Given the description of an element on the screen output the (x, y) to click on. 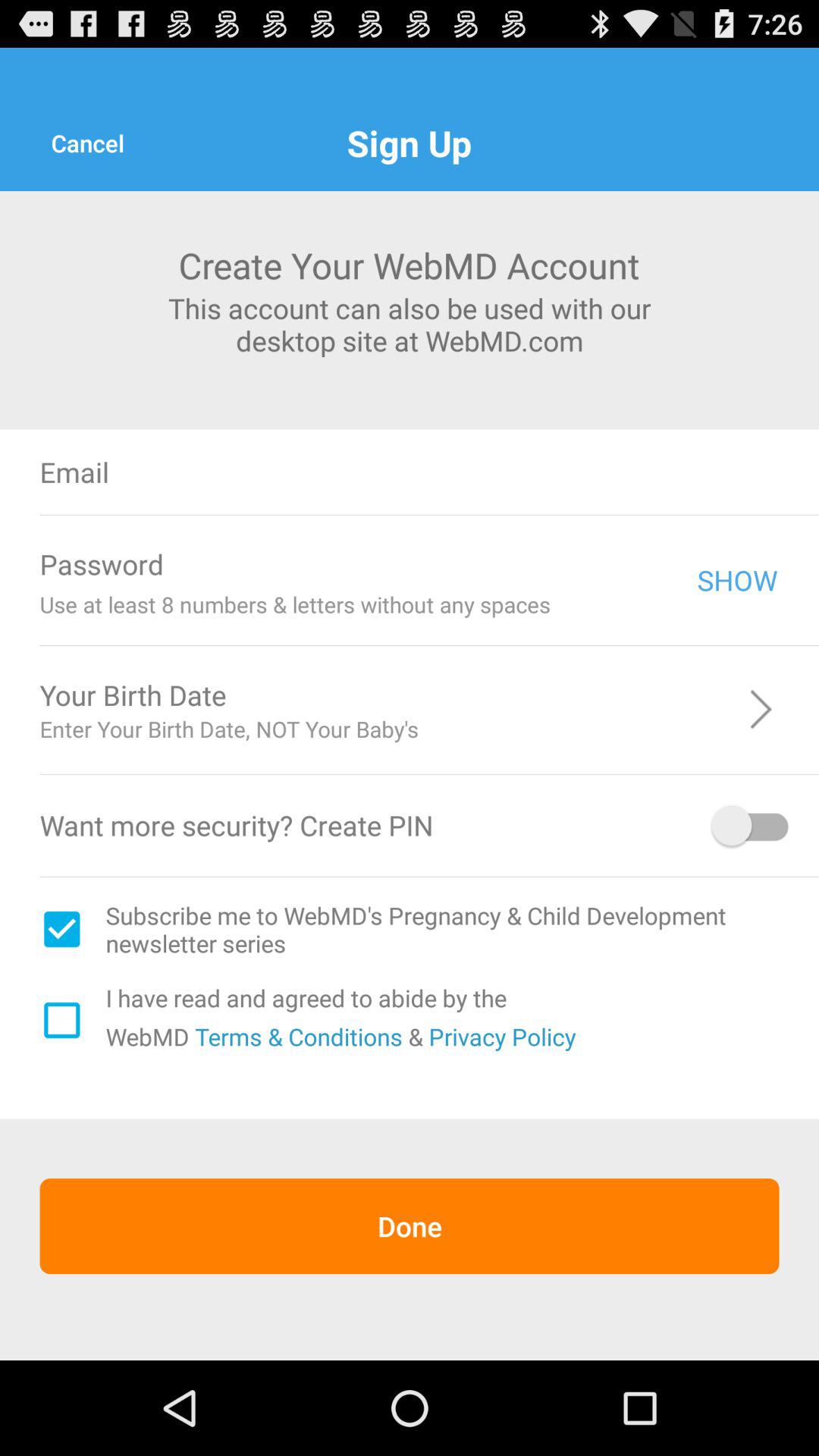
subscribe to newsletter (61, 929)
